Given the description of an element on the screen output the (x, y) to click on. 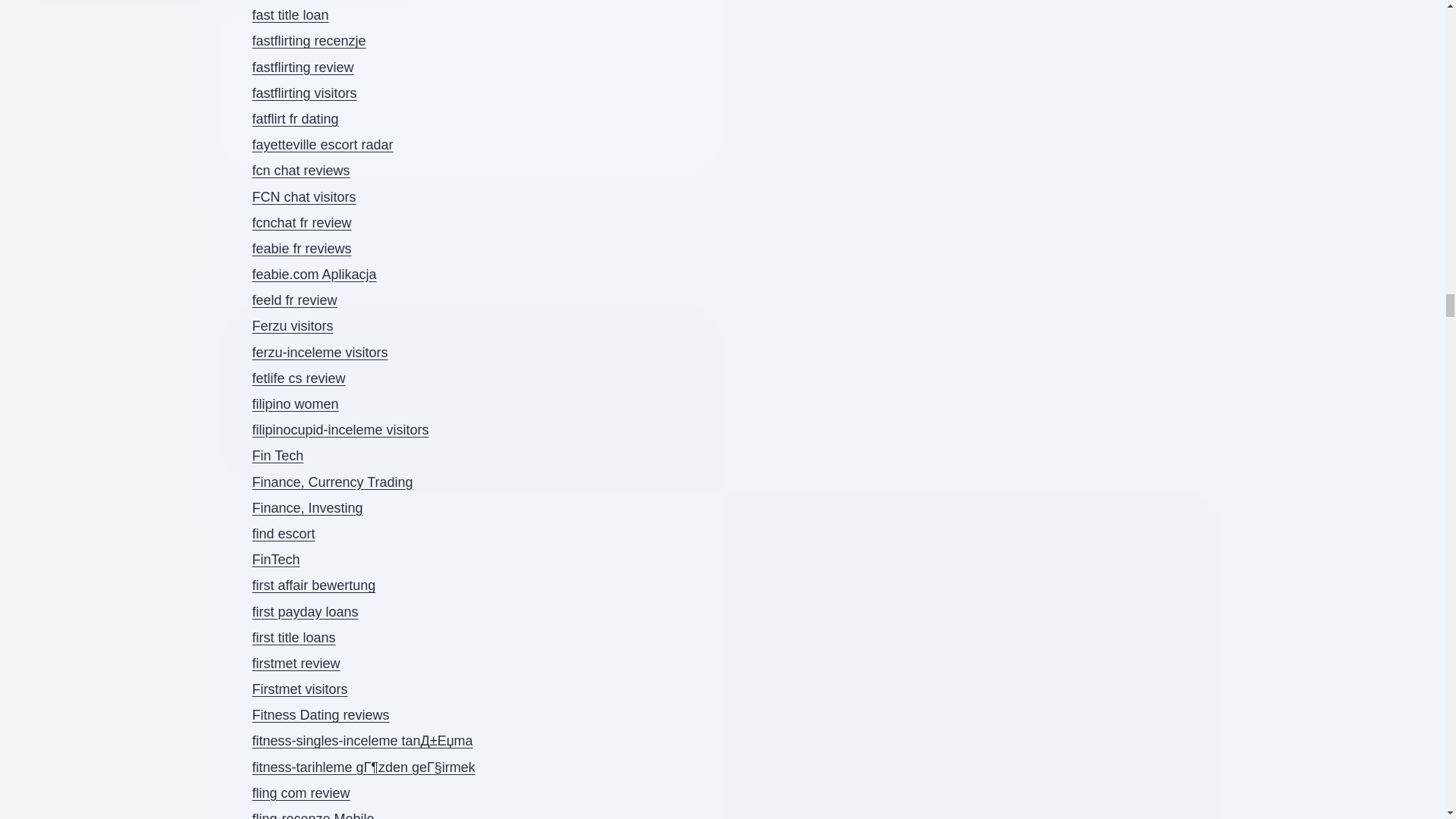
Finance, Currency Trading (331, 482)
Finance, Investing (306, 507)
